Given the description of an element on the screen output the (x, y) to click on. 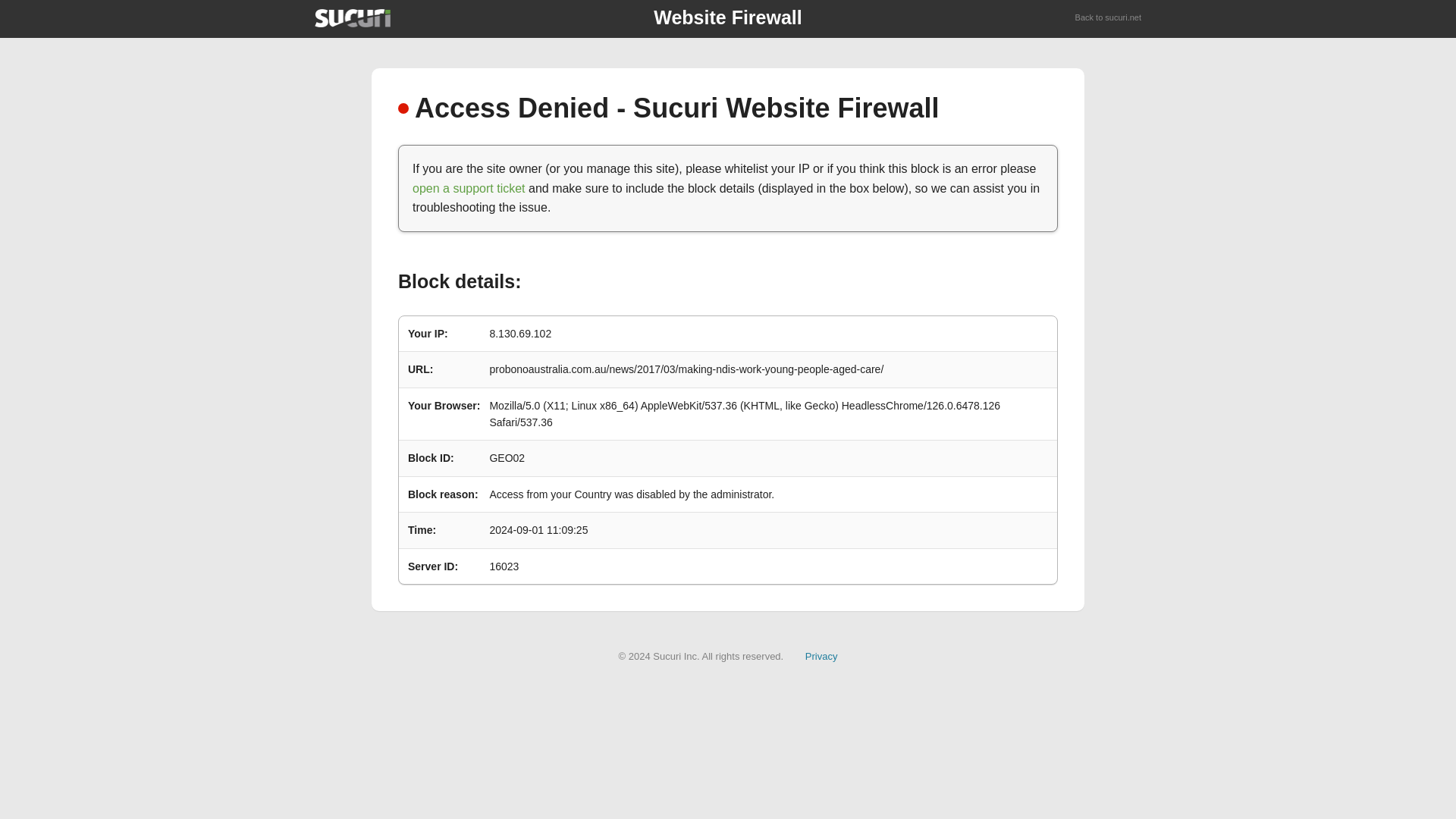
Back to sucuri.net (1108, 18)
open a support ticket (468, 187)
Privacy (821, 655)
